Given the description of an element on the screen output the (x, y) to click on. 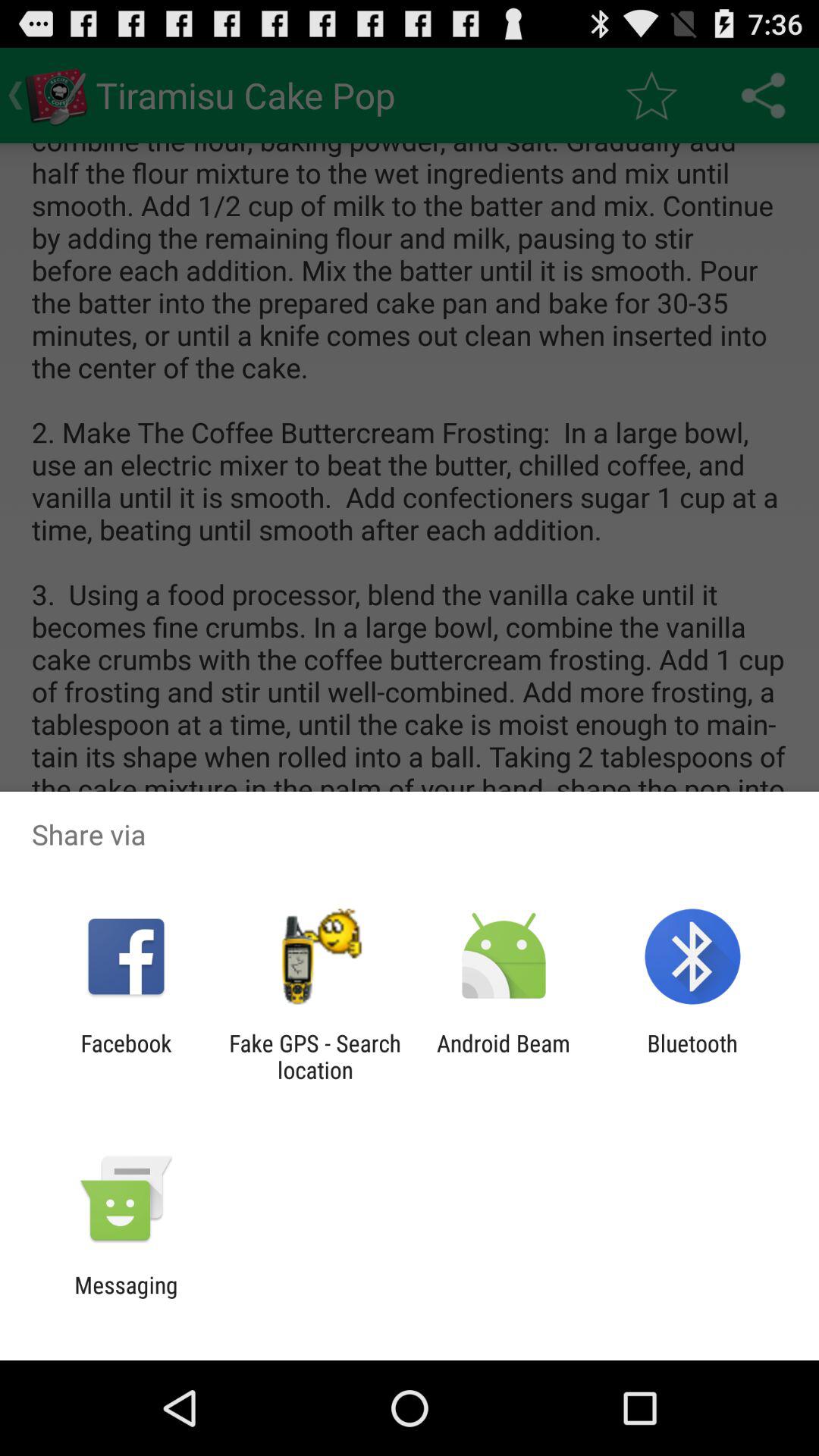
turn on item to the left of bluetooth item (503, 1056)
